Given the description of an element on the screen output the (x, y) to click on. 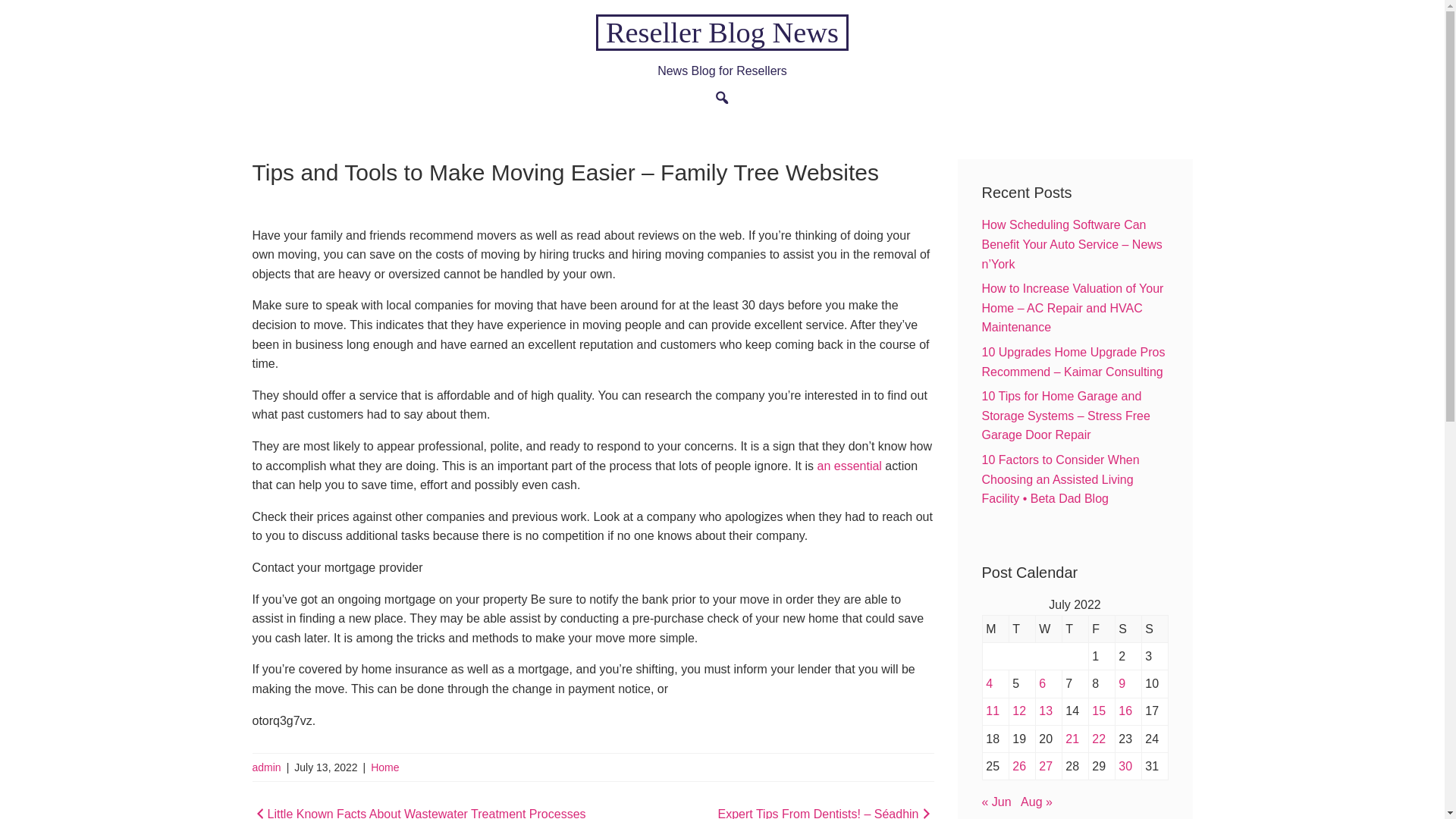
Search (689, 158)
Monday (995, 628)
Reseller Blog News (721, 32)
Tuesday (1022, 628)
admin (266, 767)
Thursday (1074, 628)
Sunday (1154, 628)
11 (991, 710)
Wednesday (1048, 628)
Home (384, 767)
